Given the description of an element on the screen output the (x, y) to click on. 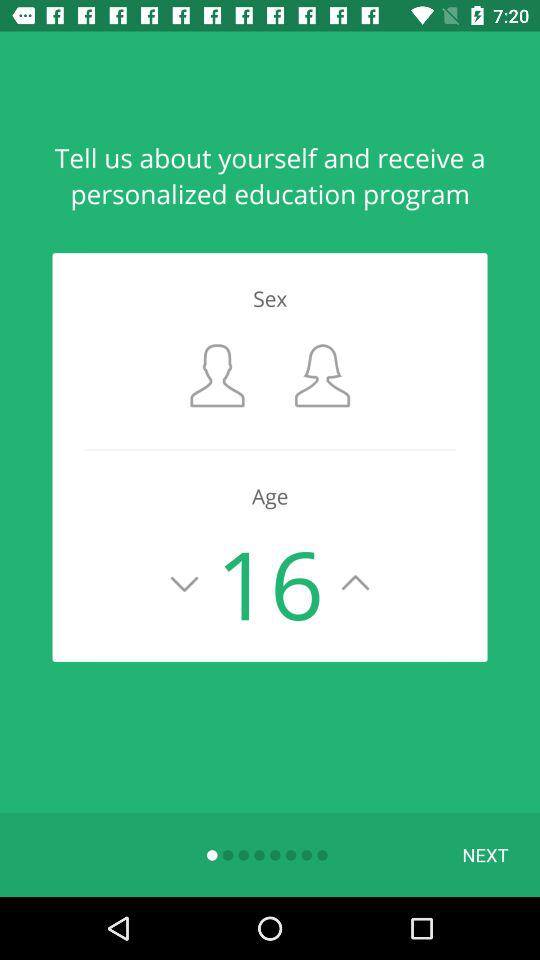
click to lower age (184, 583)
